Given the description of an element on the screen output the (x, y) to click on. 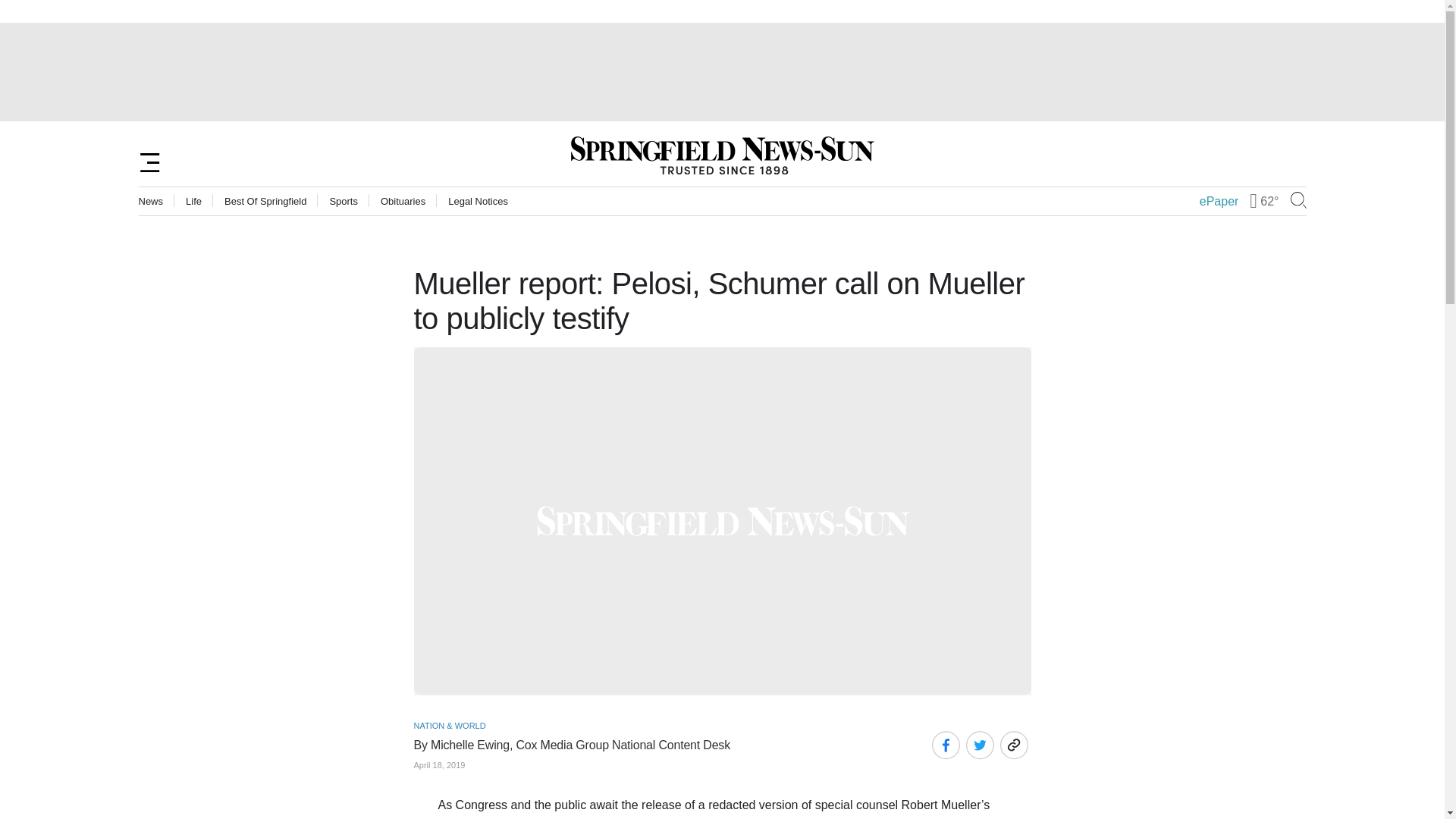
Life (194, 201)
News (150, 201)
Legal Notices (478, 201)
Best Of Springfield (264, 201)
Sports (343, 201)
ePaper (1219, 201)
Obituaries (402, 201)
